Given the description of an element on the screen output the (x, y) to click on. 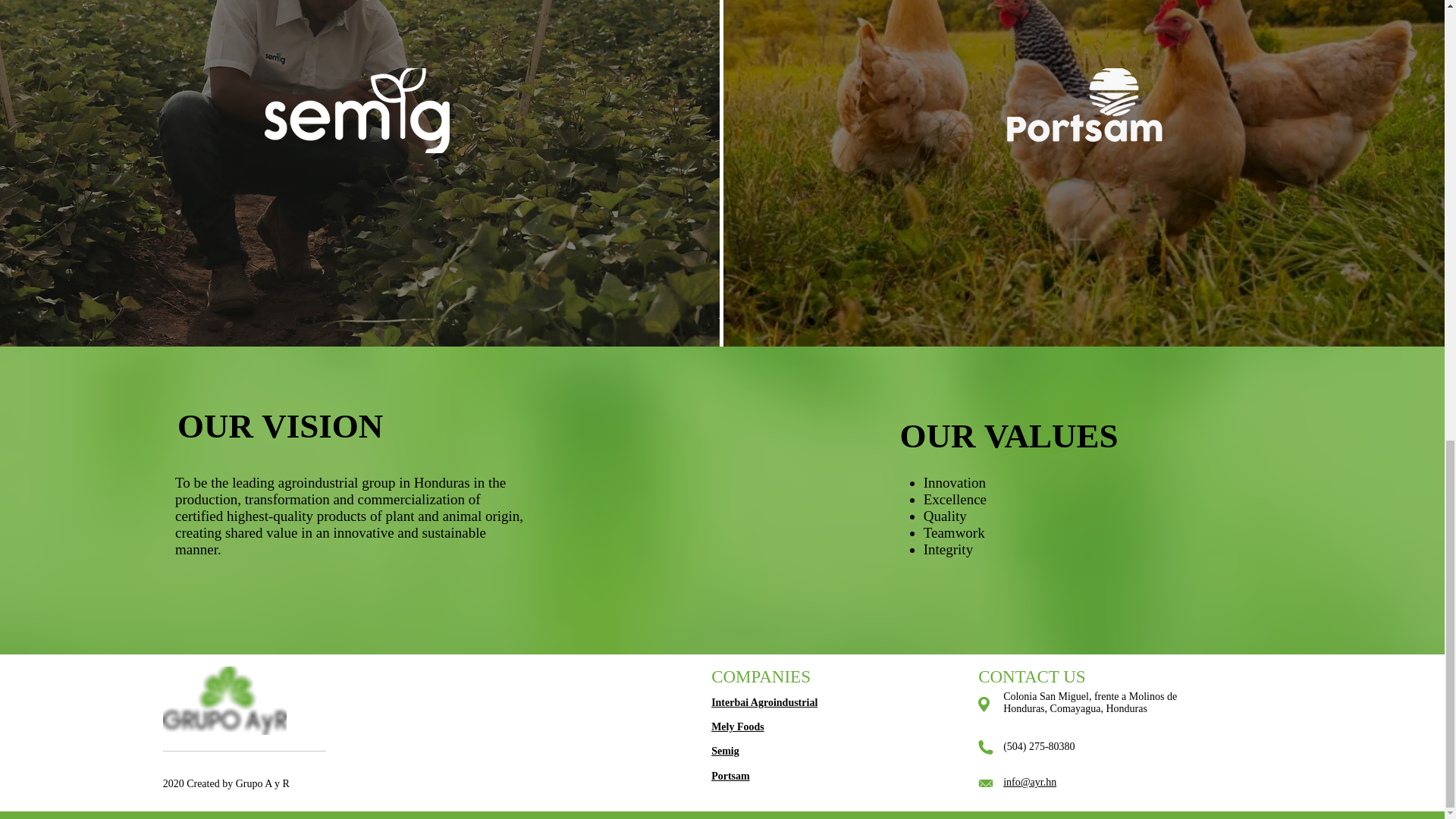
Semig (725, 750)
Portsam (730, 776)
Interbai Agroindustrial (763, 702)
Mely Foods (737, 726)
